Given the description of an element on the screen output the (x, y) to click on. 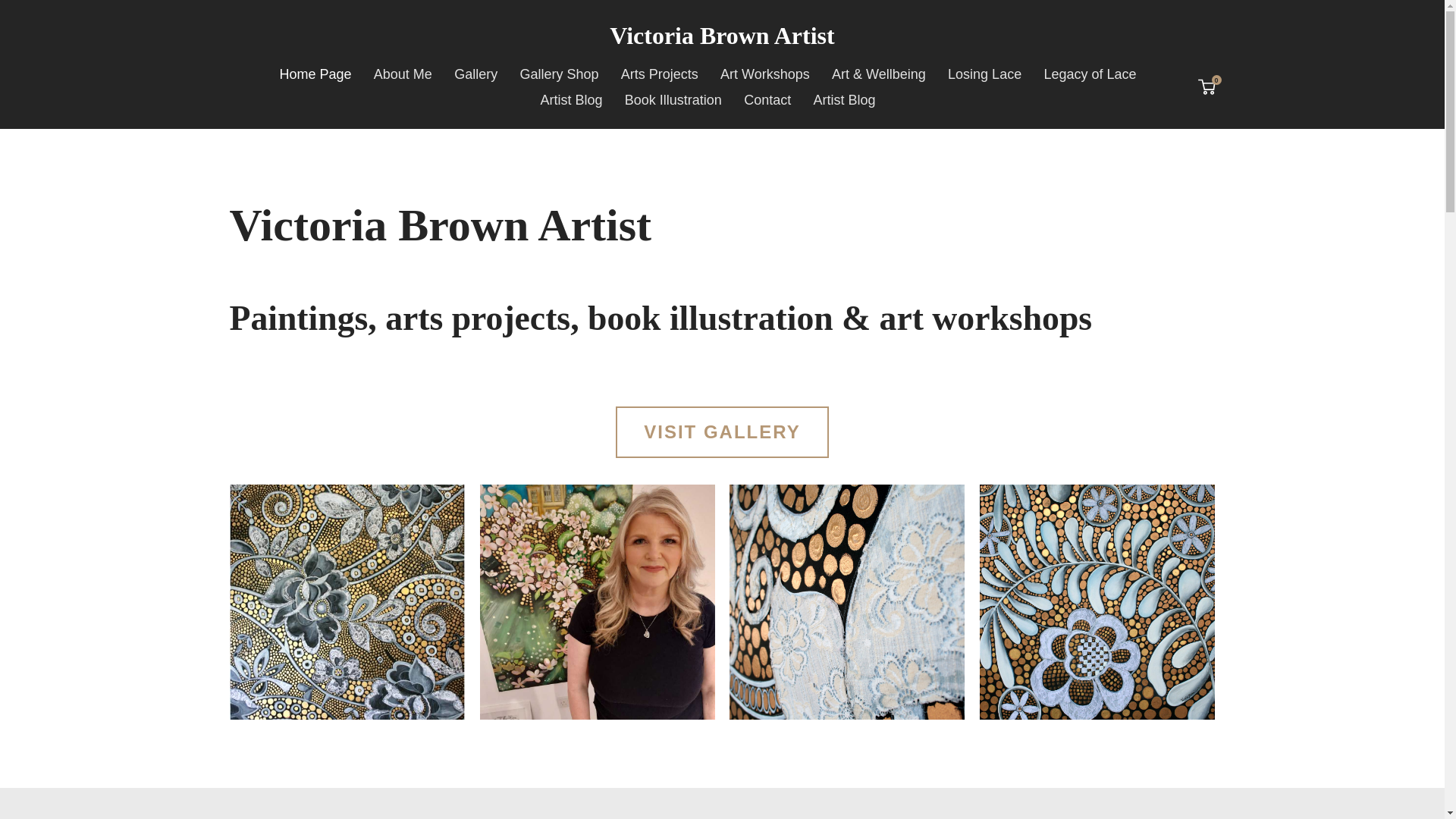
Contact (767, 99)
Book Illustration (672, 99)
Home Page (314, 73)
Artist Blog (1206, 87)
Gallery (571, 99)
Artist Blog (475, 73)
Losing Lace (843, 99)
Art Workshops (984, 73)
VISIT GALLERY (764, 73)
About Me (721, 431)
Victoria Brown Artist (403, 73)
Legacy of Lace (722, 35)
Arts Projects (1088, 73)
Gallery Shop (659, 73)
